Given the description of an element on the screen output the (x, y) to click on. 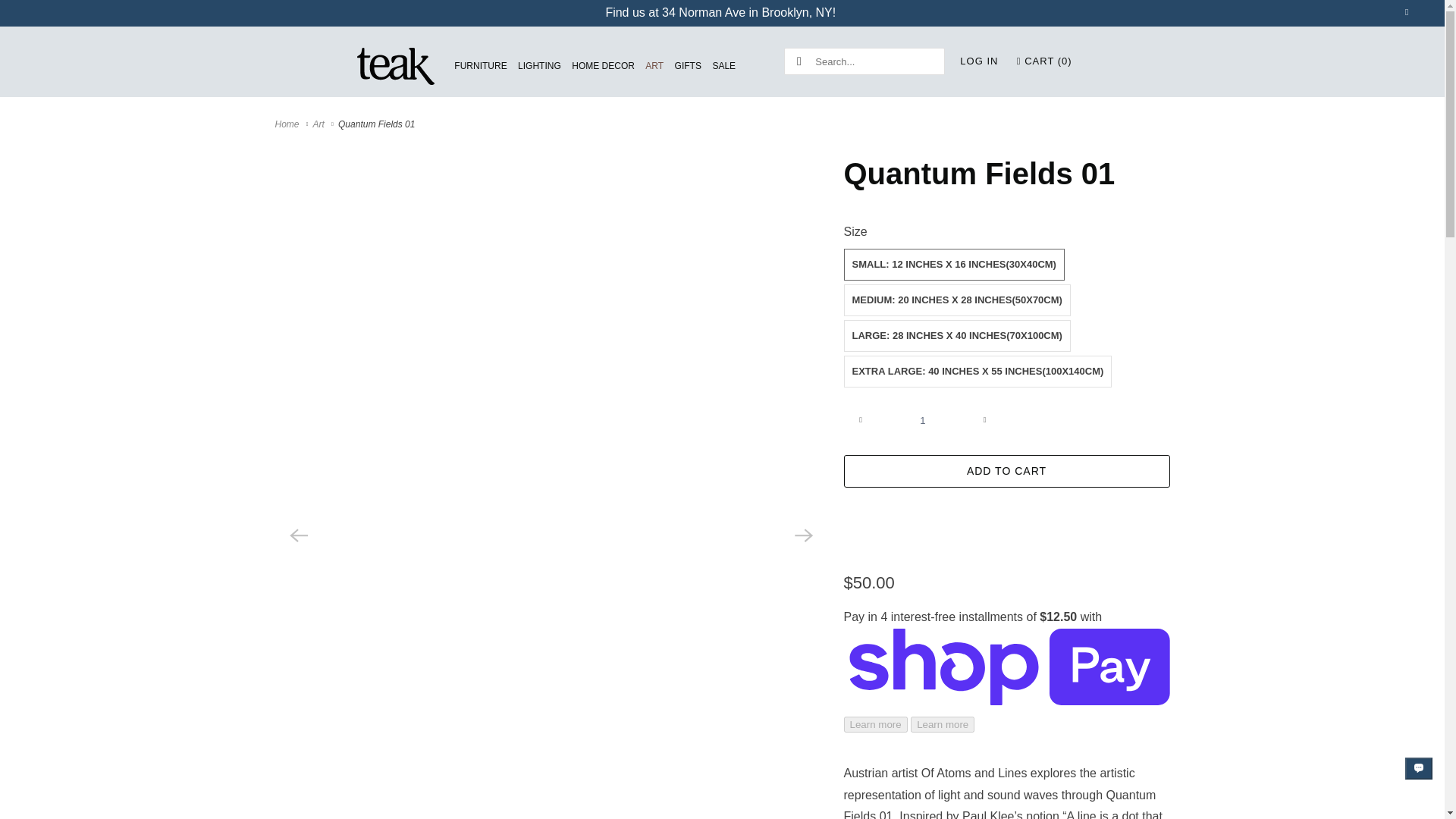
LIGHTING (539, 65)
Art (321, 123)
Art (321, 123)
Home (288, 123)
FURNITURE (480, 65)
Teak New York (288, 123)
GIFTS (688, 65)
LOG IN (978, 60)
Teak New York (395, 66)
1 (922, 419)
ADD TO CART (1006, 471)
SALE (723, 65)
HOME DECOR (603, 65)
